Given the description of an element on the screen output the (x, y) to click on. 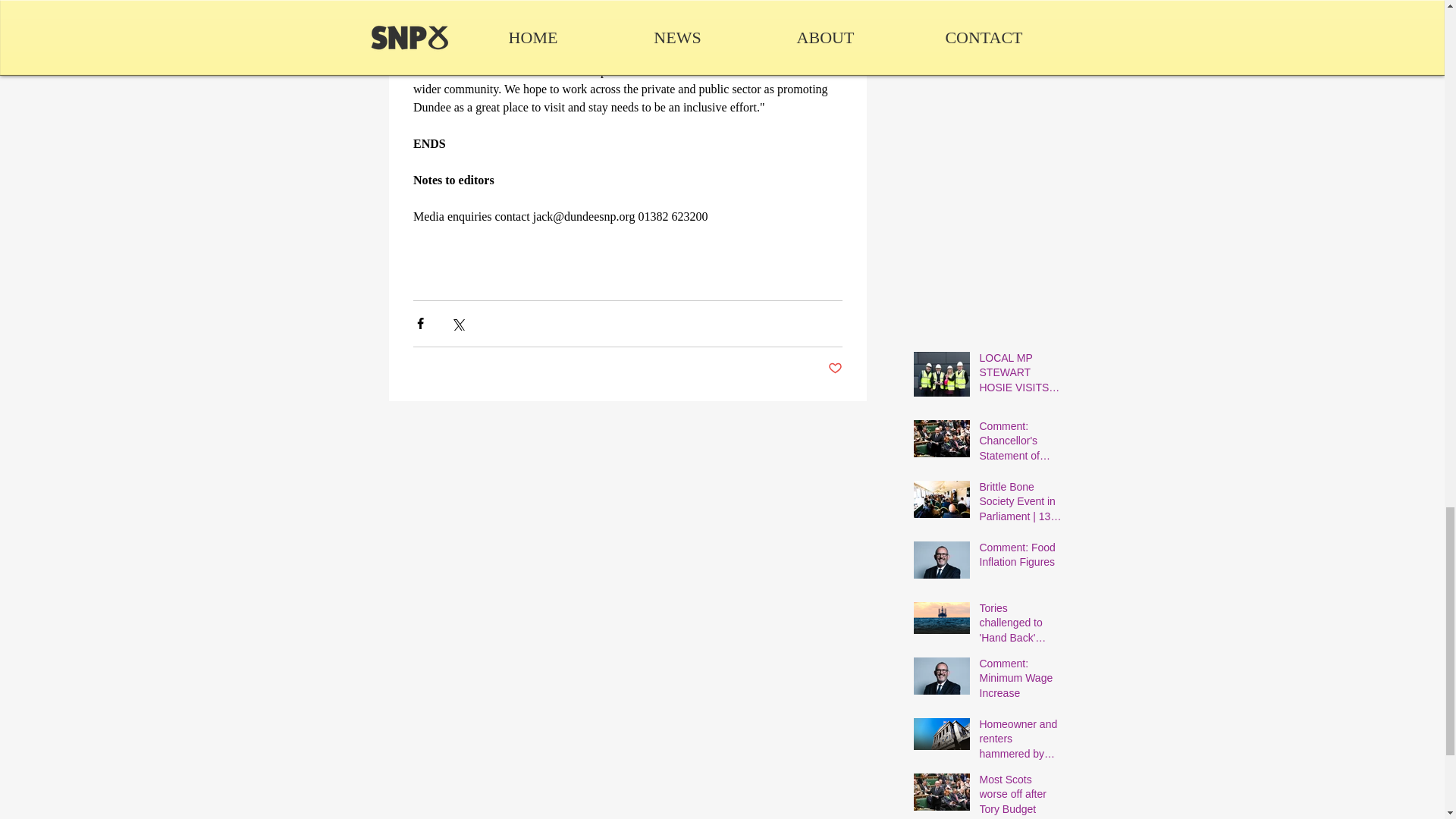
Homeowner and renters hammered by Tory failure (1020, 742)
Post not marked as liked (835, 368)
Comment: Food Inflation Figures (1020, 558)
Comment: Minimum Wage Increase (1020, 681)
Most Scots worse off after Tory Budget (1020, 796)
Comment: Chancellor's Statement of 26th June 2023 (1020, 444)
